Given the description of an element on the screen output the (x, y) to click on. 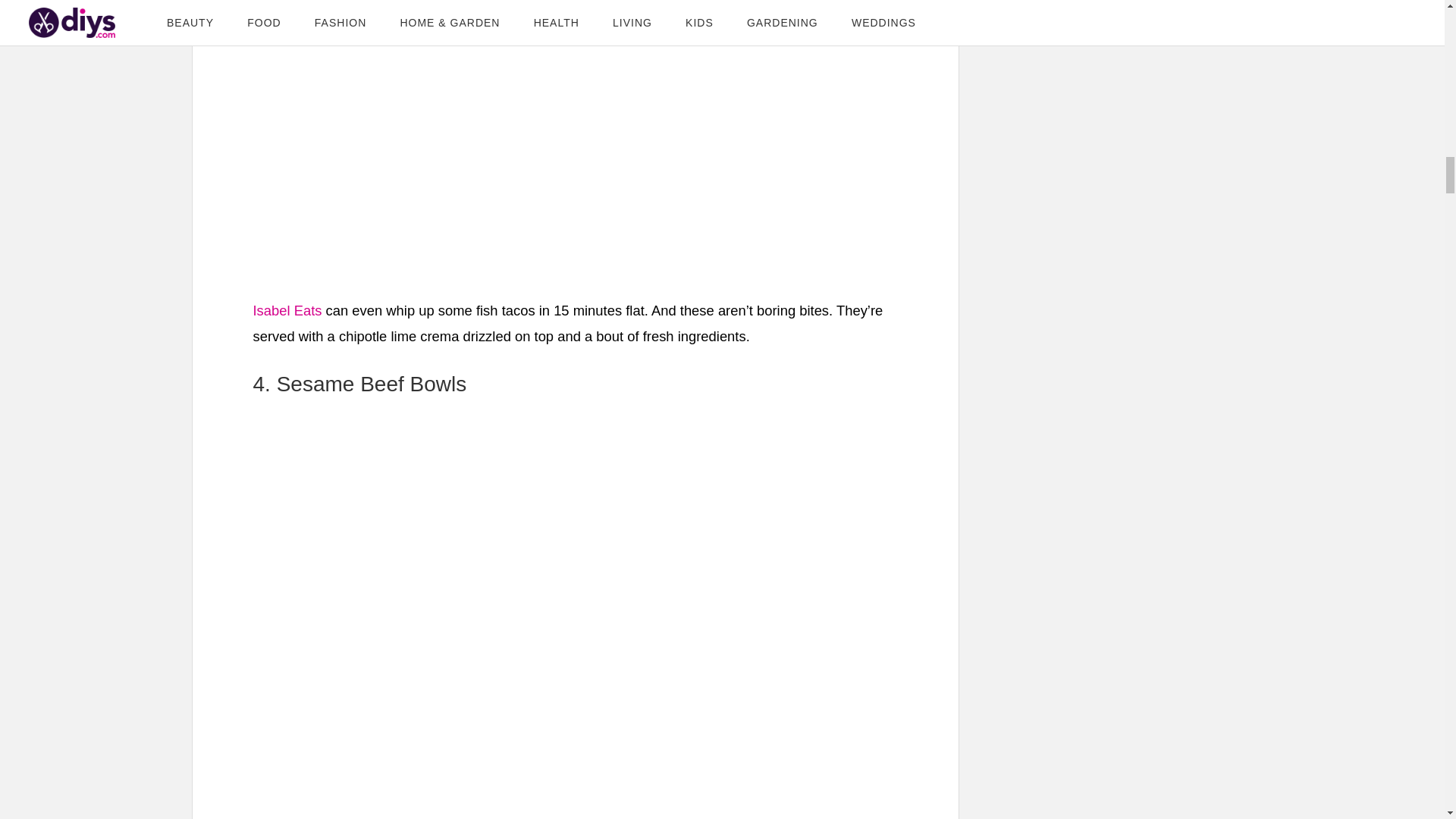
Isabel Eats (287, 310)
